Given the description of an element on the screen output the (x, y) to click on. 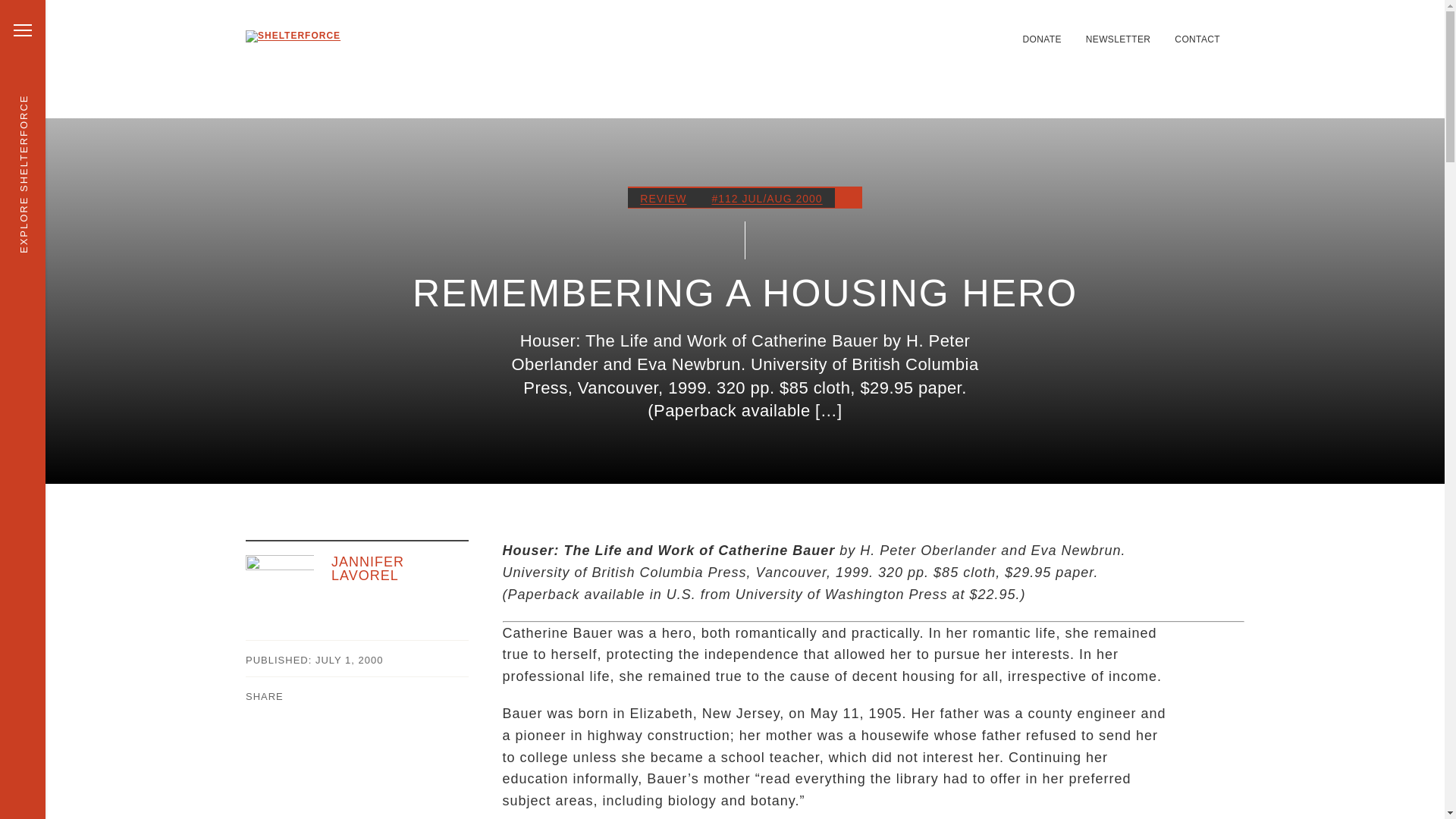
Follow us on Soundcloud (969, 30)
NEWSLETTER (1118, 39)
Follow us on Twitter (897, 30)
Shelterforce (431, 58)
DONATE (1041, 39)
Follow us on Spotify (951, 30)
Follow us on Facebook (933, 30)
Follow us on LinkedIn (915, 30)
Follow us on YouTube (988, 30)
CONTACT (1197, 39)
